Given the description of an element on the screen output the (x, y) to click on. 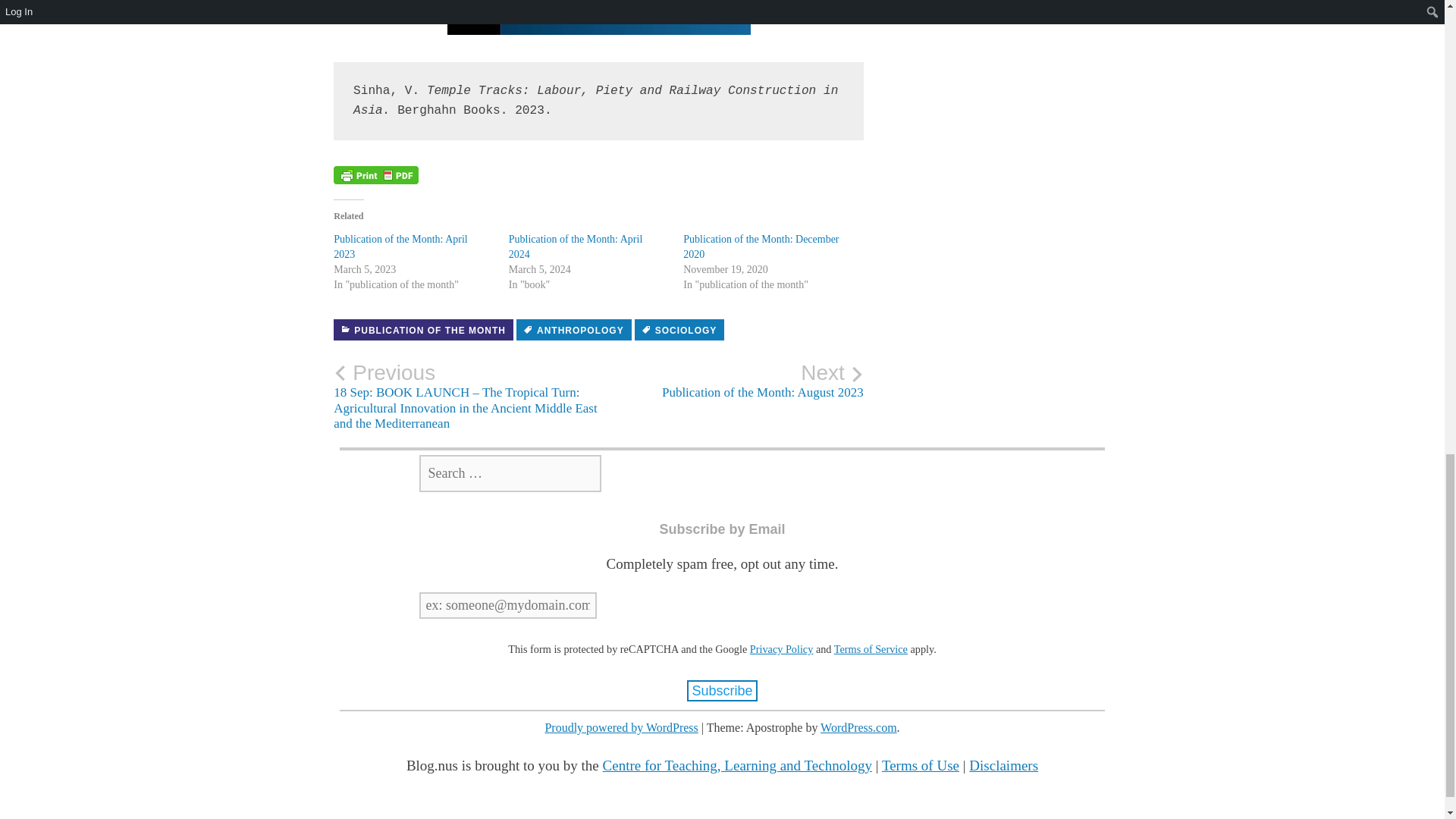
PUBLICATION OF THE MONTH (423, 329)
Subscribe (722, 690)
ANTHROPOLOGY (730, 380)
Publication of the Month: April 2024 (573, 329)
Publication of the Month: April 2023 (575, 246)
SOCIOLOGY (400, 246)
Publication of the Month: April 2024 (679, 329)
Publication of the Month: December 2020 (575, 246)
Publication of the Month: December 2020 (760, 246)
Publication of the Month: April 2023 (760, 246)
